Given the description of an element on the screen output the (x, y) to click on. 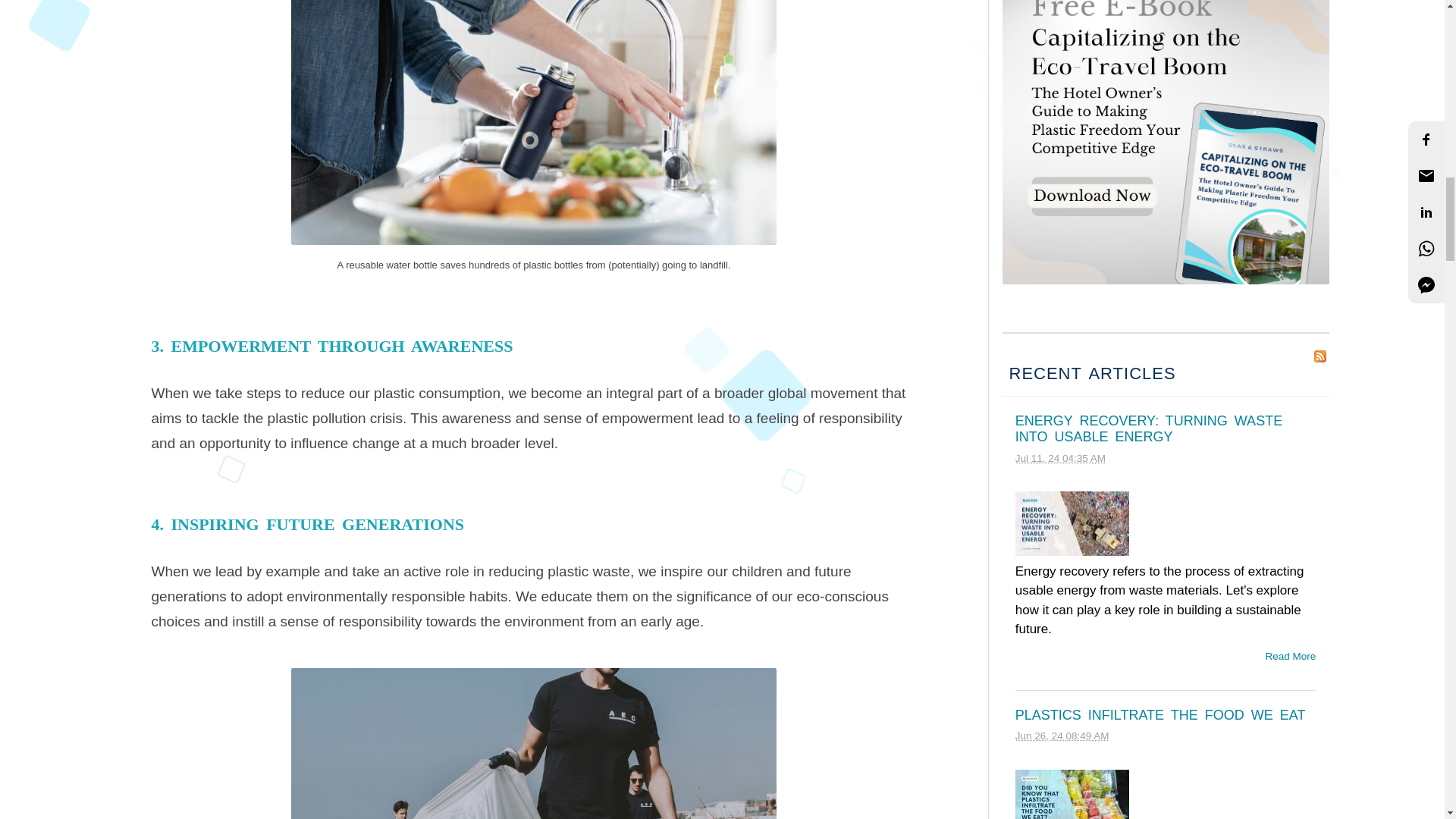
Sustainability Sells mockup (1166, 142)
2024-06-26T08:49:11-0400 (1061, 736)
2024-07-11T04:35:47-0400 (1059, 458)
Go to Sustainability Sells (1166, 279)
